Given the description of an element on the screen output the (x, y) to click on. 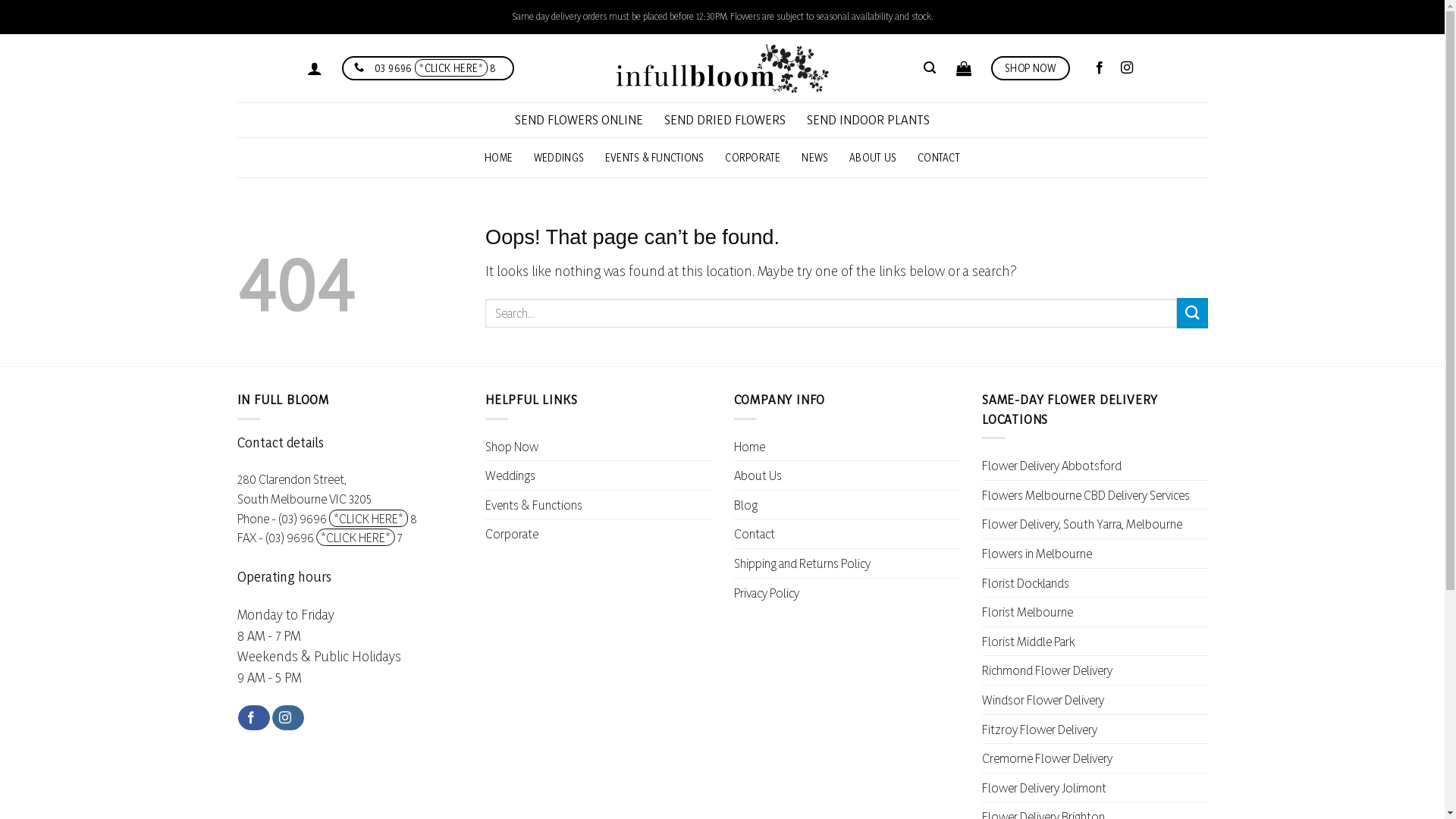
Flower Delivery Jolimont Element type: text (1044, 787)
Follow on Facebook Element type: hover (253, 718)
03 9696 *CLICK HERE* 8 Element type: text (427, 68)
CONTACT Element type: text (938, 157)
SHOP NOW Element type: text (1030, 68)
Follow on Instagram Element type: hover (288, 718)
Follow on Facebook Element type: hover (1103, 68)
Privacy Policy Element type: text (766, 592)
About Us Element type: text (757, 475)
Florist Melbourne Element type: hover (721, 68)
NEWS Element type: text (814, 157)
Flowers in Melbourne Element type: text (1037, 553)
Blog Element type: text (745, 504)
Shipping and Returns Policy Element type: text (802, 563)
WEDDINGS Element type: text (558, 157)
Corporate Element type: text (511, 533)
Florist Middle Park Element type: text (1028, 641)
EVENTS & FUNCTIONS Element type: text (654, 157)
Richmond Flower Delivery Element type: text (1047, 669)
Flower Delivery Abbotsford Element type: text (1051, 465)
Fitzroy Flower Delivery Element type: text (1039, 729)
Florist Docklands Element type: text (1025, 582)
SEND FLOWERS ONLINE Element type: text (578, 119)
Cart Element type: hover (963, 67)
SEND DRIED FLOWERS Element type: text (724, 119)
ABOUT US Element type: text (872, 157)
Shop Now Element type: text (511, 446)
HOME Element type: text (498, 157)
Phone - (03) 9696 *CLICK HERE* 8 Element type: text (326, 518)
Follow on Instagram Element type: hover (1130, 68)
Weddings Element type: text (510, 475)
Flower Delivery, South Yarra, Melbourne Element type: text (1082, 523)
Events & Functions Element type: text (533, 504)
Flowers Melbourne CBD Delivery Services Element type: text (1085, 494)
Cremorne Flower Delivery Element type: text (1047, 757)
SEND INDOOR PLANTS Element type: text (867, 119)
Home Element type: text (749, 446)
Windsor Flower Delivery Element type: text (1043, 699)
Florist Melbourne Element type: text (1027, 611)
CORPORATE Element type: text (752, 157)
FAX - (03) 9696 *CLICK HERE* 7 Element type: text (318, 537)
Contact Element type: text (754, 533)
